Given the description of an element on the screen output the (x, y) to click on. 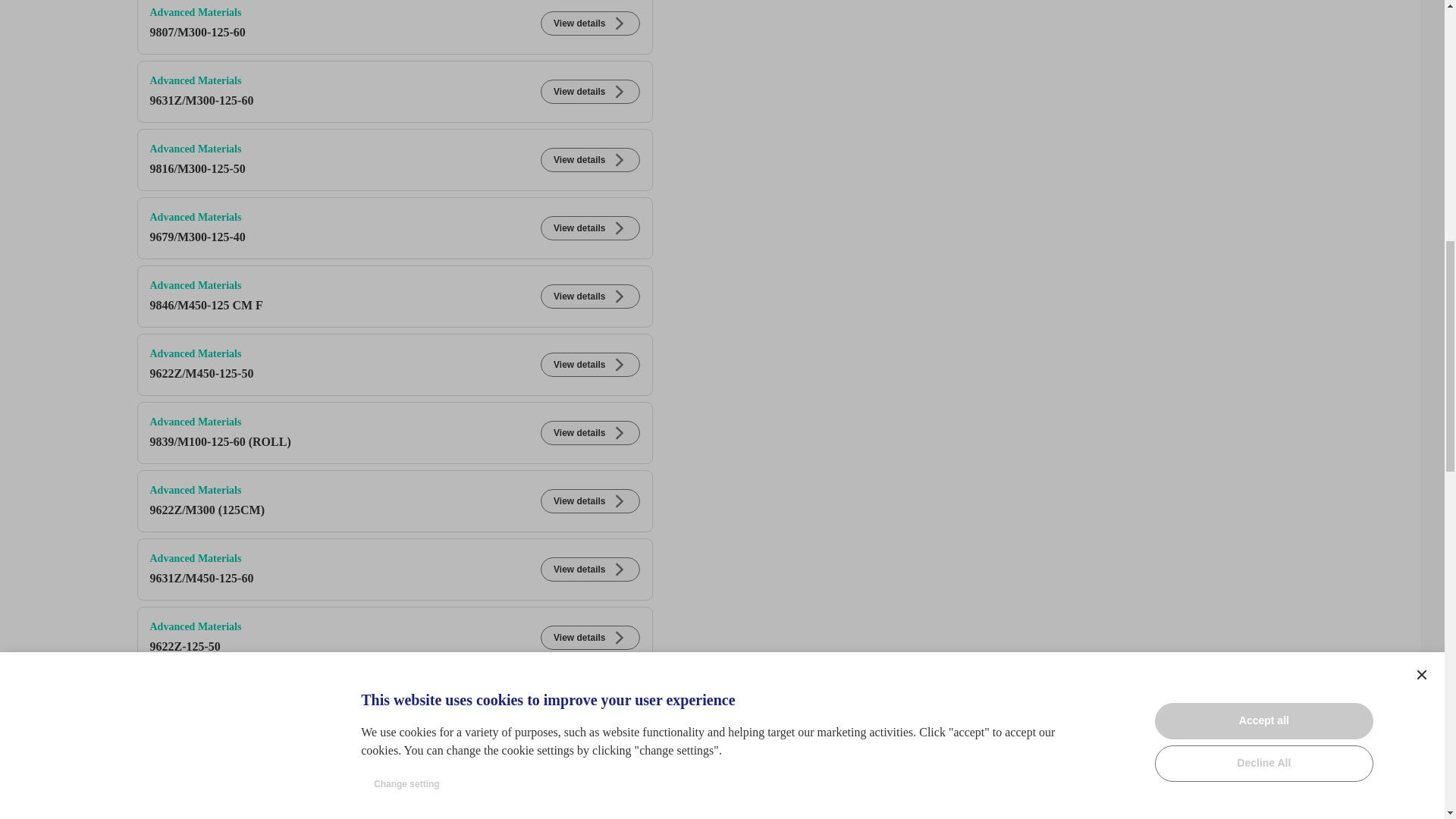
View details (589, 23)
View details (589, 364)
View details (589, 228)
View details (589, 159)
View details (589, 91)
View details (589, 296)
View details (589, 432)
